Given the description of an element on the screen output the (x, y) to click on. 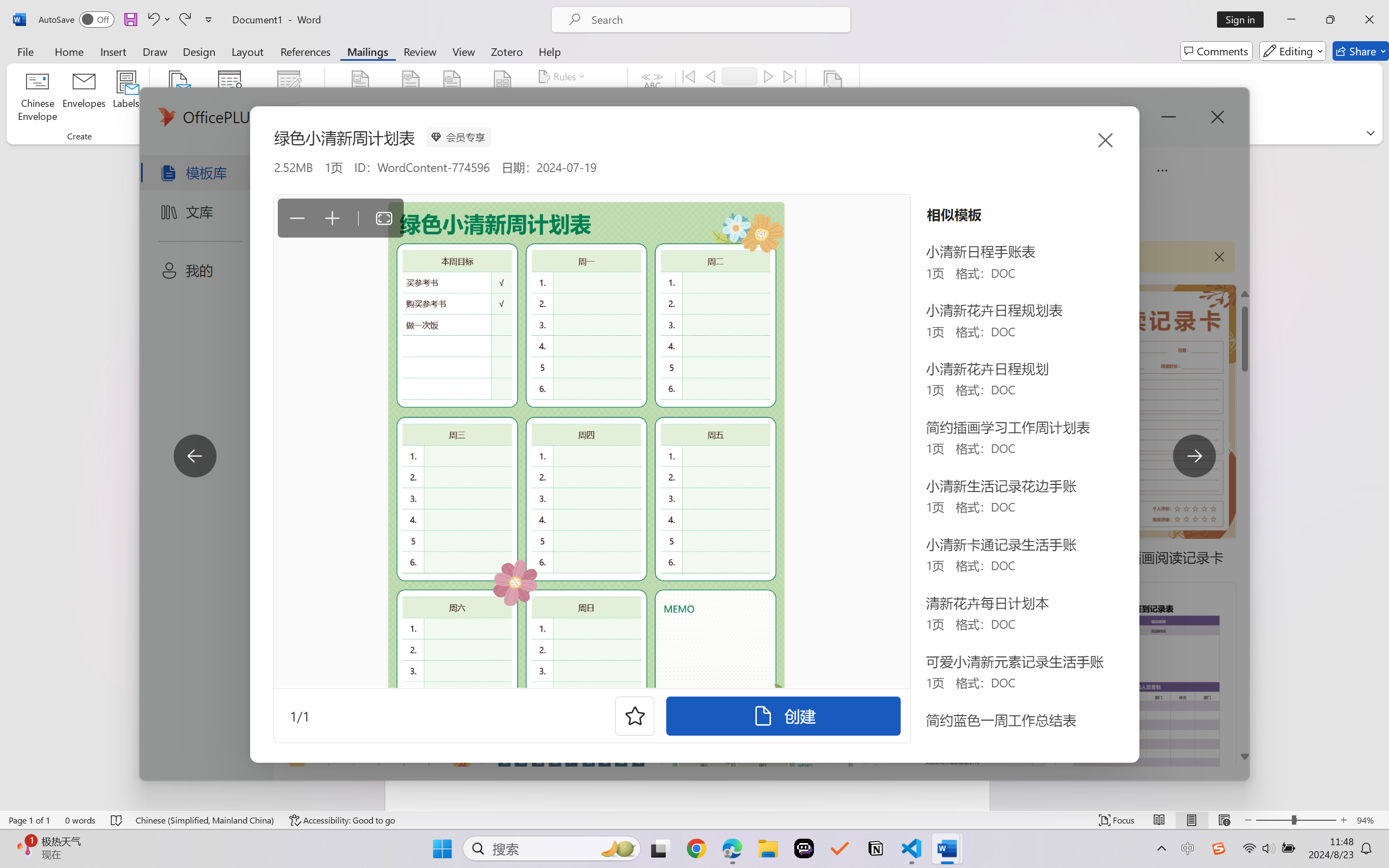
Select Recipients (229, 97)
Labels... (126, 97)
Undo Apply Quick Style Set (152, 19)
Rules (563, 75)
Last (790, 75)
Edit Recipient List... (288, 97)
Chinese Envelope... (37, 97)
Next (768, 75)
